Given the description of an element on the screen output the (x, y) to click on. 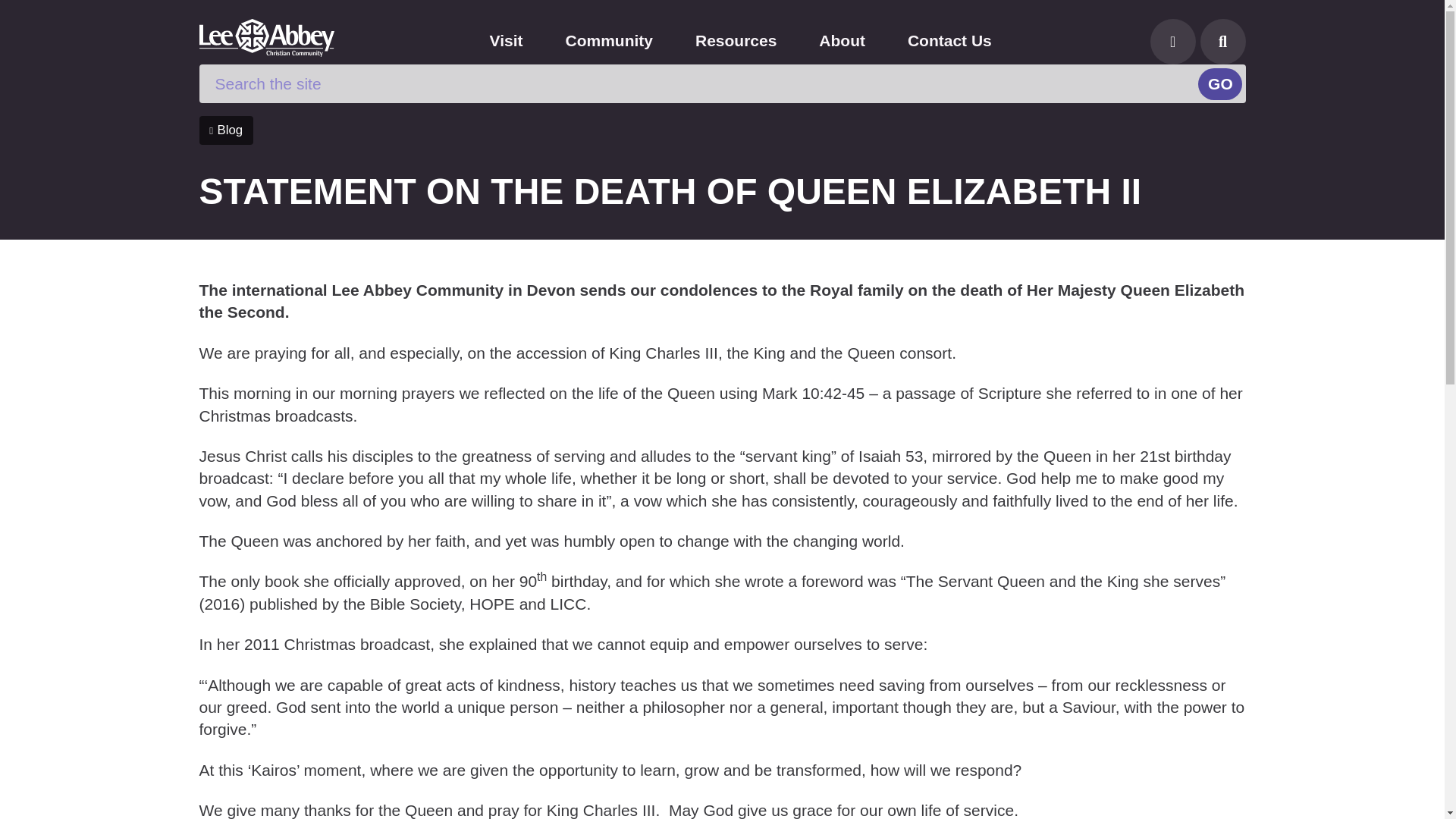
Resources (735, 40)
Go (1219, 83)
Visit (506, 40)
Community (609, 40)
Go back to the blog (224, 130)
About (841, 40)
